Given the description of an element on the screen output the (x, y) to click on. 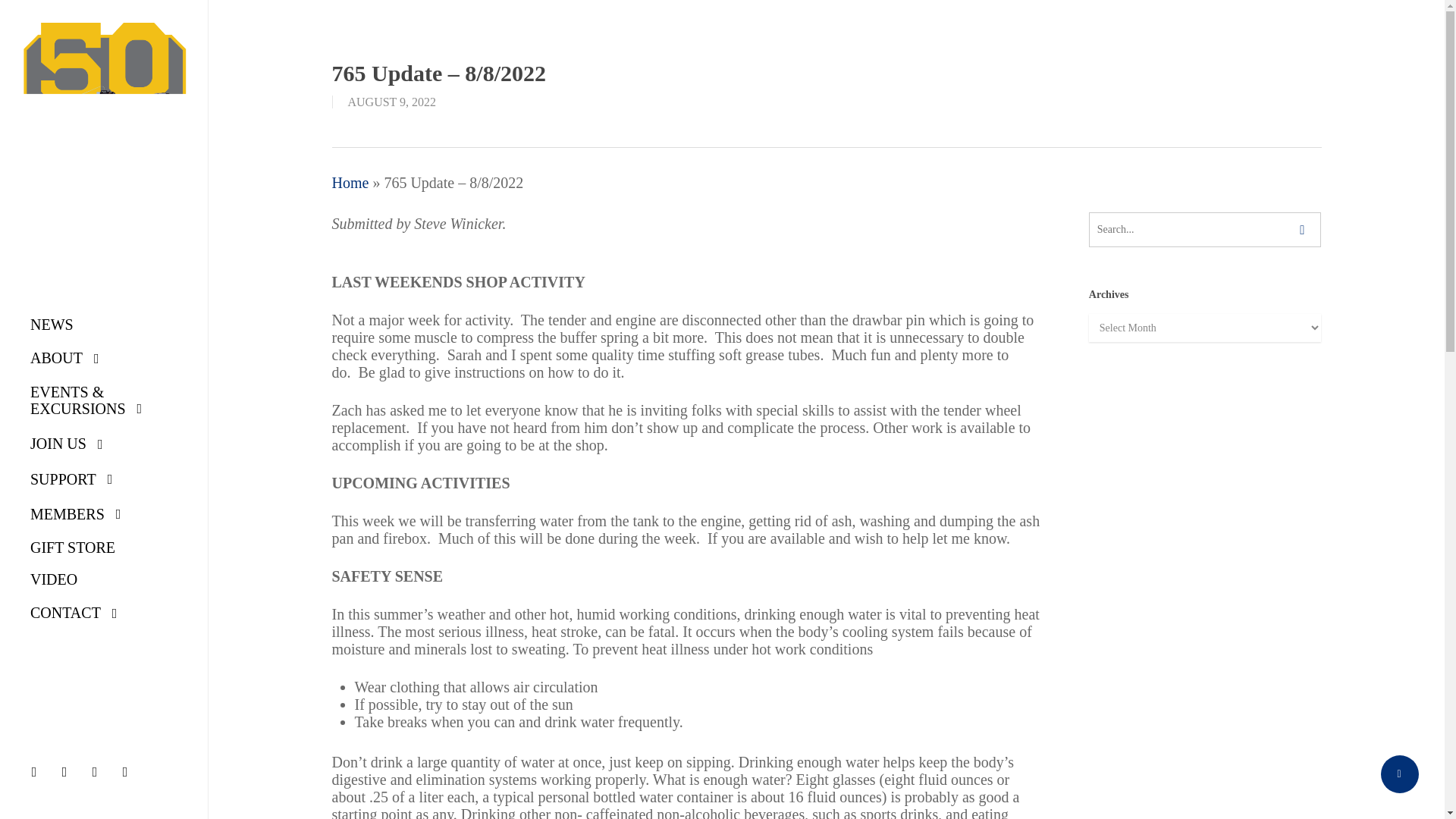
Search for: (1205, 229)
SUPPORT (71, 478)
ABOUT (65, 357)
VIDEO (53, 579)
email (128, 771)
youtube (97, 771)
GIFT STORE (72, 547)
CONTACT (74, 612)
MEMBERS (76, 513)
JOIN US (67, 443)
